Given the description of an element on the screen output the (x, y) to click on. 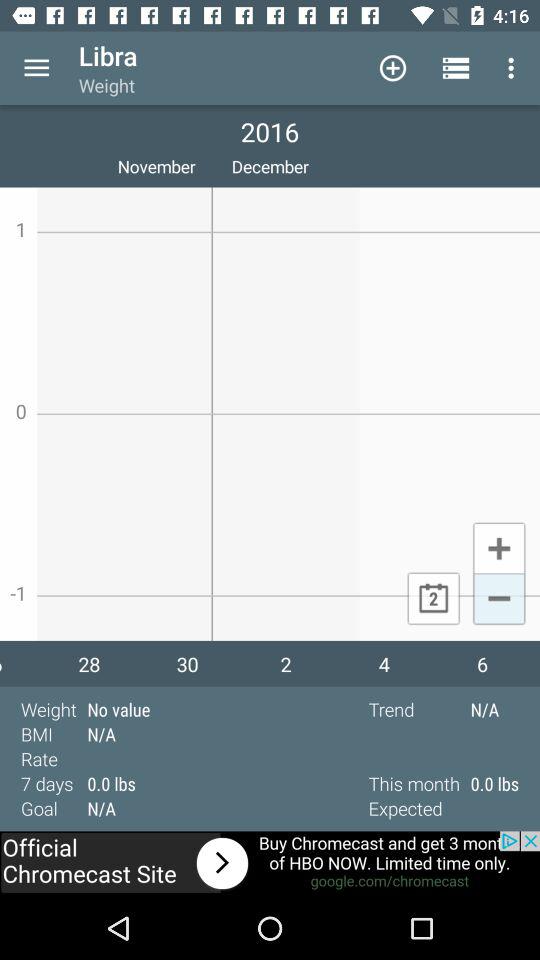
show settings (36, 68)
